Given the description of an element on the screen output the (x, y) to click on. 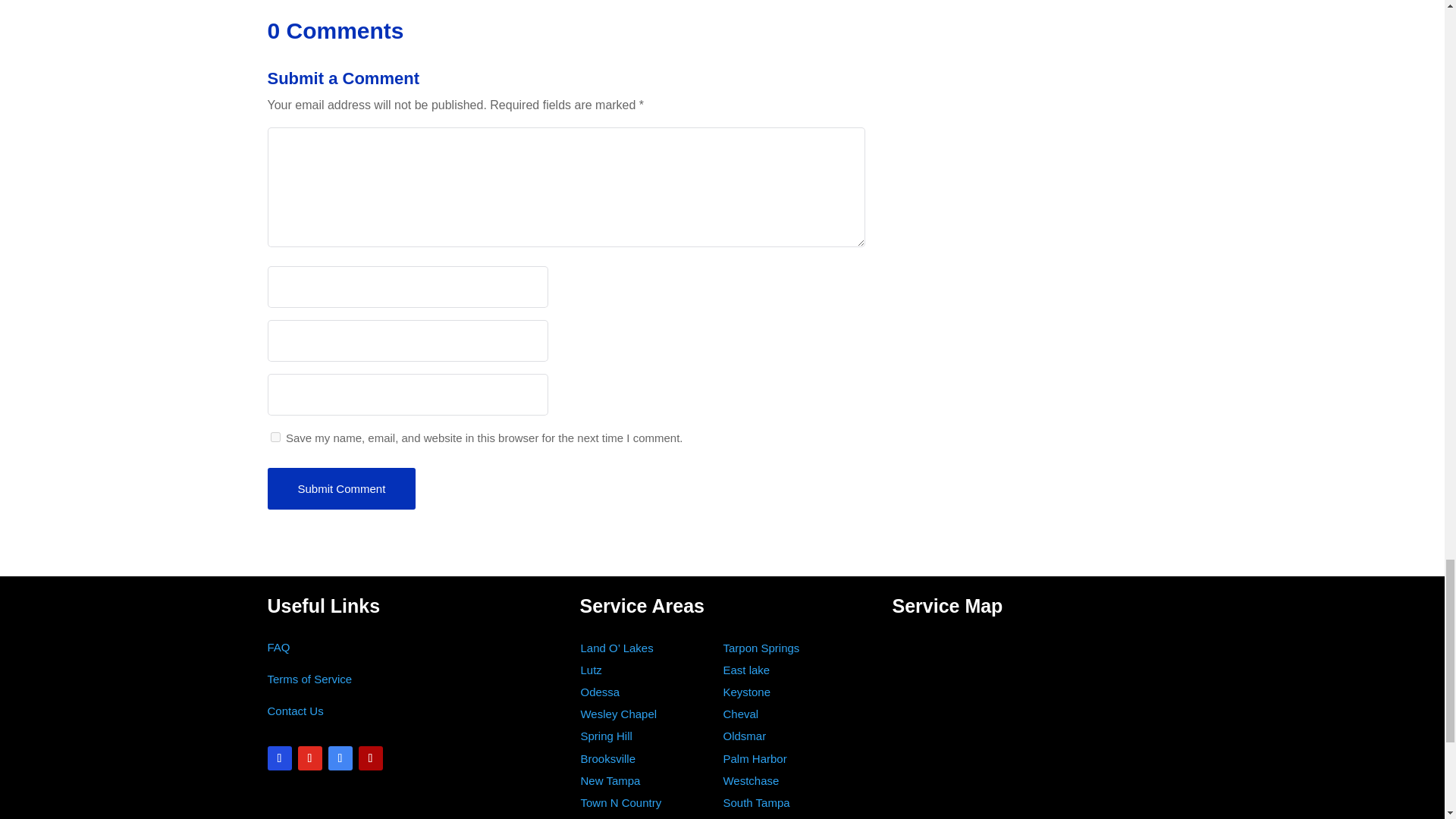
yes (274, 437)
Follow on Yelp (369, 758)
Follow on Google (339, 758)
Follow on Facebook (278, 758)
Follow on Instagram (309, 758)
